Given the description of an element on the screen output the (x, y) to click on. 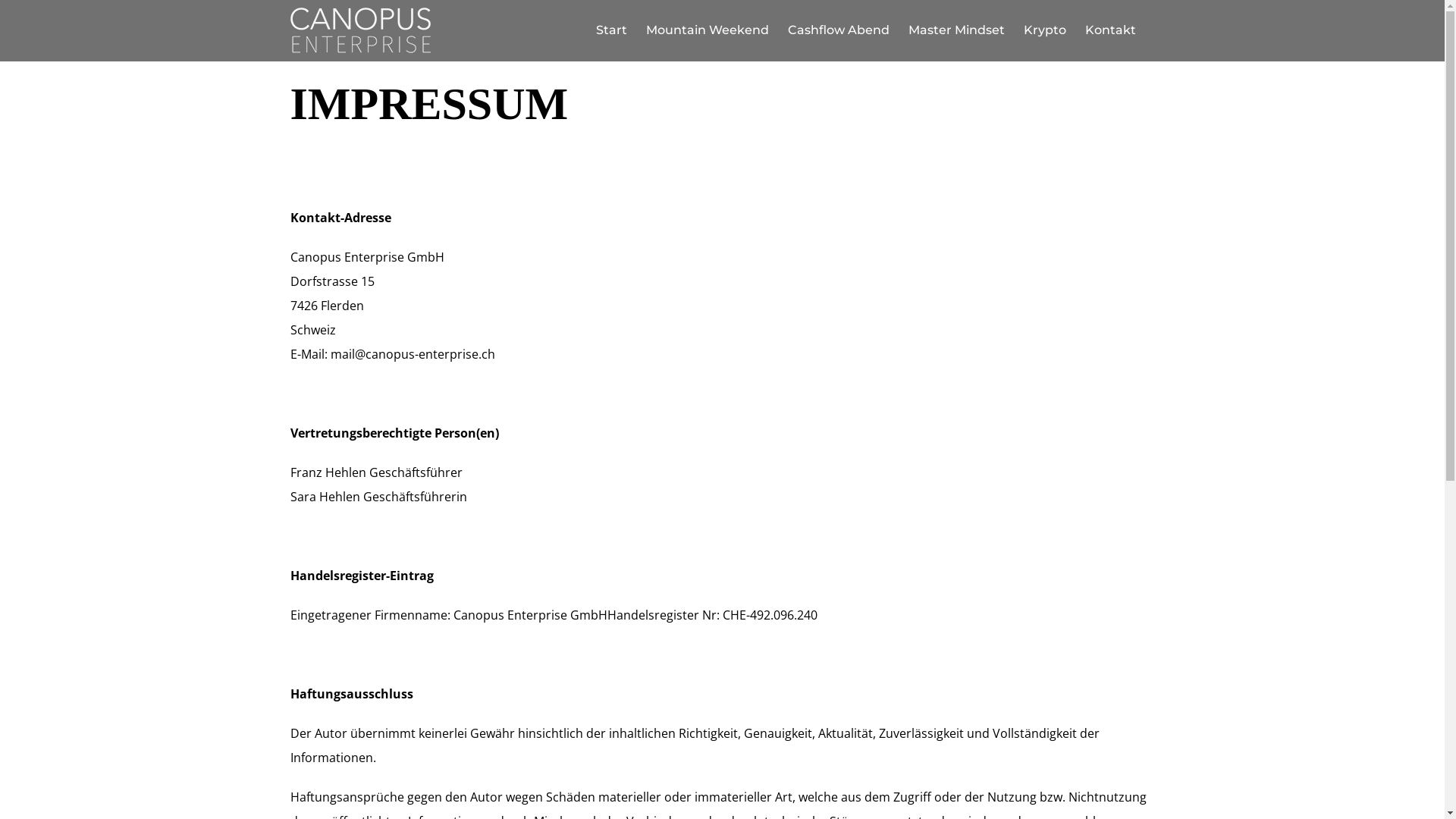
Mountain Weekend Element type: text (707, 30)
Kontakt Element type: text (1109, 30)
Start Element type: text (611, 30)
Krypto Element type: text (1044, 30)
Cashflow Abend Element type: text (837, 30)
Master Mindset Element type: text (956, 30)
